Given the description of an element on the screen output the (x, y) to click on. 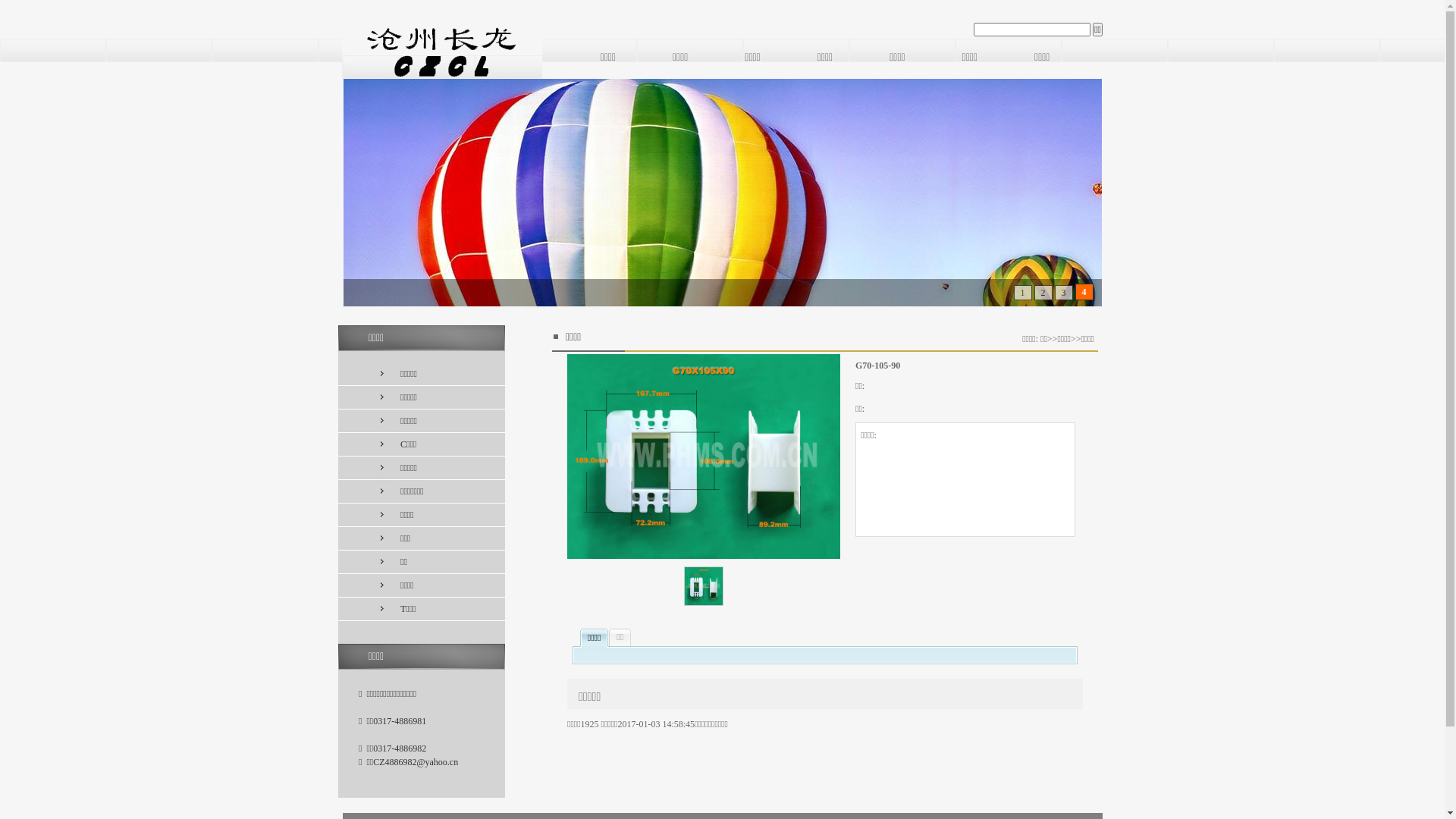
4 Element type: text (1083, 291)
2 Element type: text (1042, 292)
3 Element type: text (1063, 292)
1 Element type: text (1022, 292)
